Given the description of an element on the screen output the (x, y) to click on. 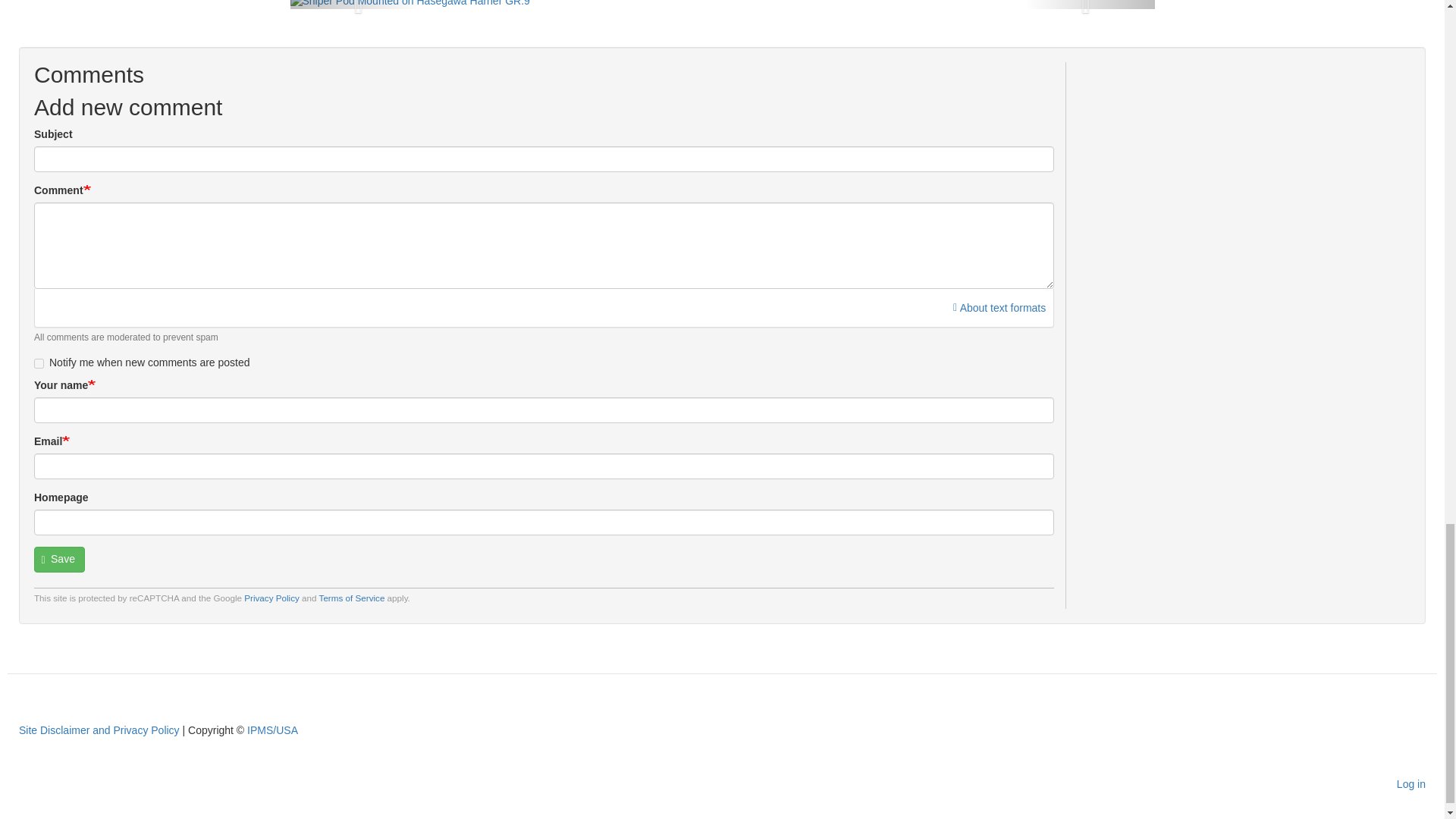
Sniper Pod Mounted on Hasegawa Harrier GR.9 (409, 3)
Sniper Pod Mounted on Hasegawa Harrier GR.9 (409, 4)
1 (38, 363)
